Given the description of an element on the screen output the (x, y) to click on. 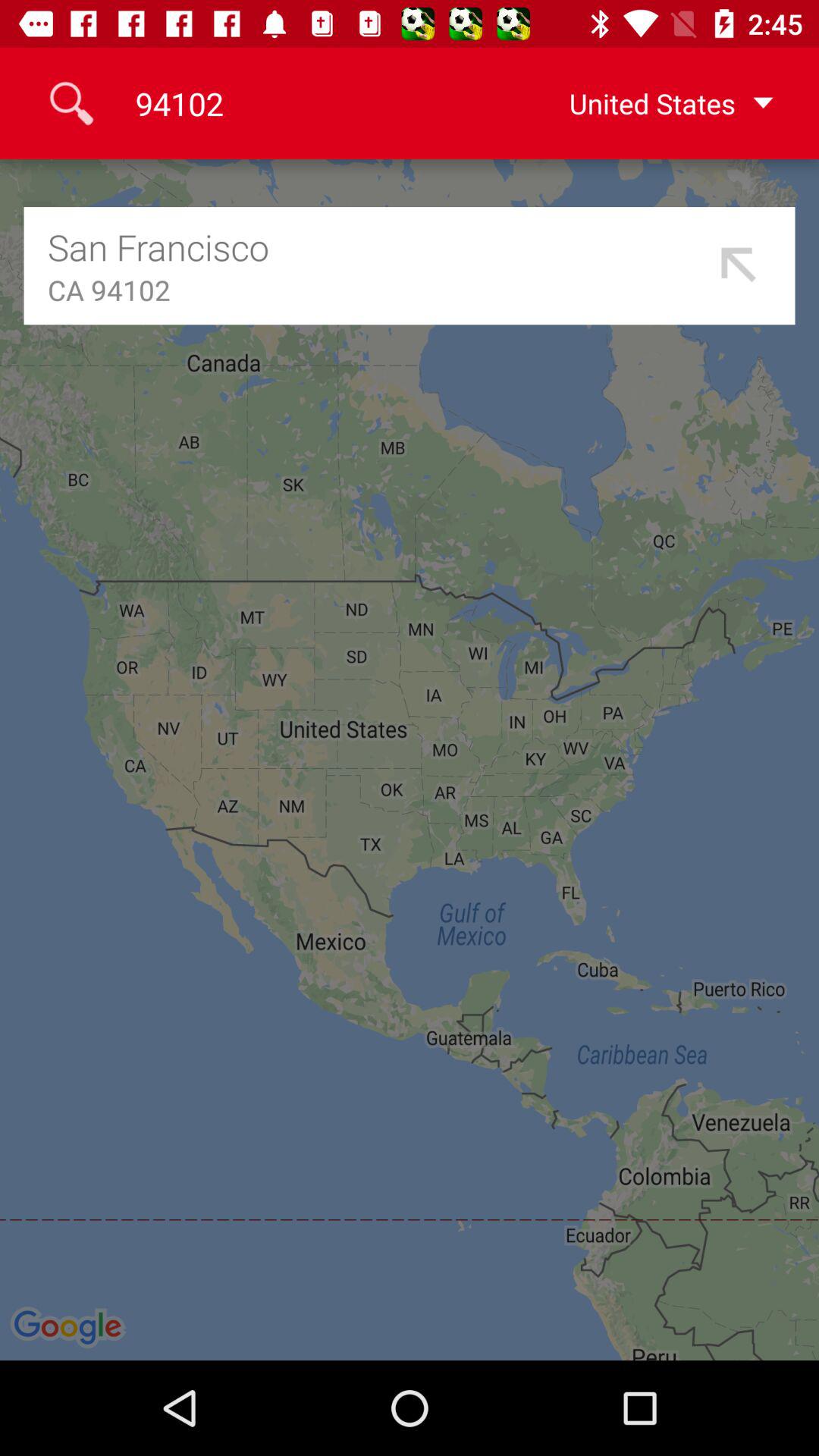
launch the item next to the 94102 (647, 103)
